Given the description of an element on the screen output the (x, y) to click on. 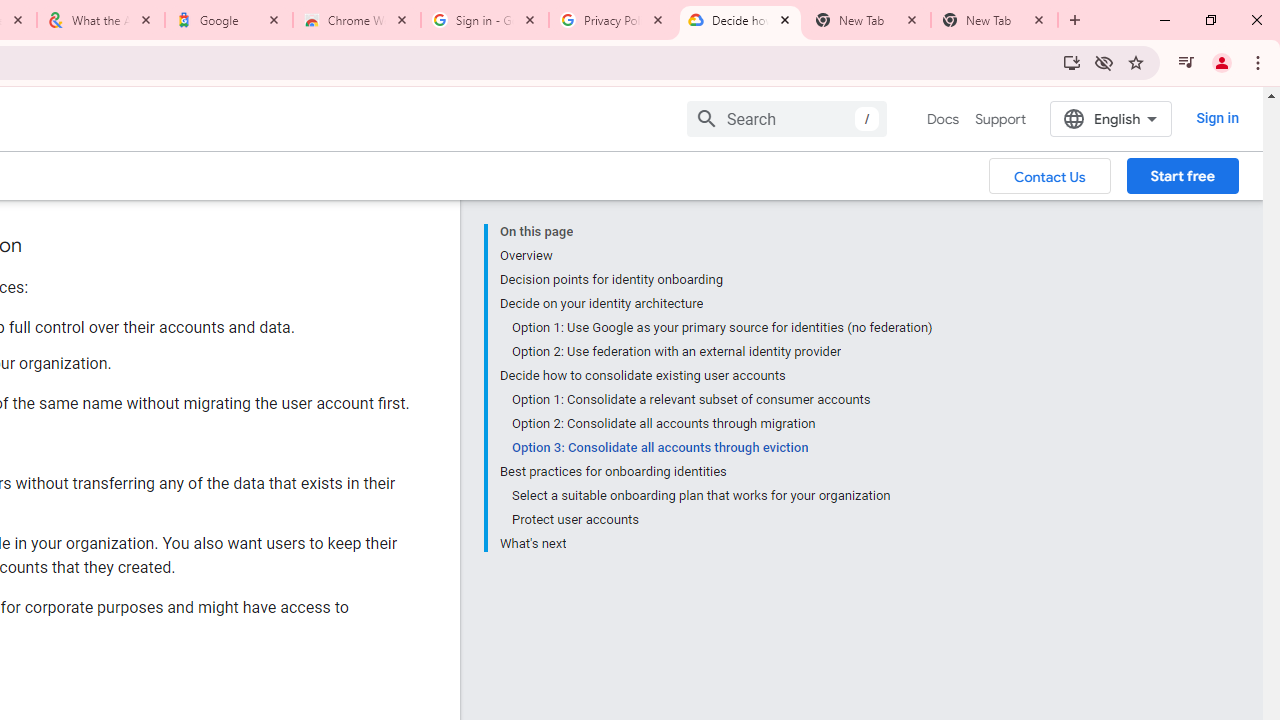
Install Google Cloud (1071, 62)
Contact Us (1050, 175)
Option 2: Consolidate all accounts through migration (721, 423)
Support (1000, 119)
Decide how to consolidate existing user accounts (716, 376)
Decision points for identity onboarding (716, 279)
English (1110, 118)
Protect user accounts (721, 520)
Option 2: Use federation with an external identity provider (721, 351)
Chrome Web Store - Color themes by Chrome (357, 20)
